Given the description of an element on the screen output the (x, y) to click on. 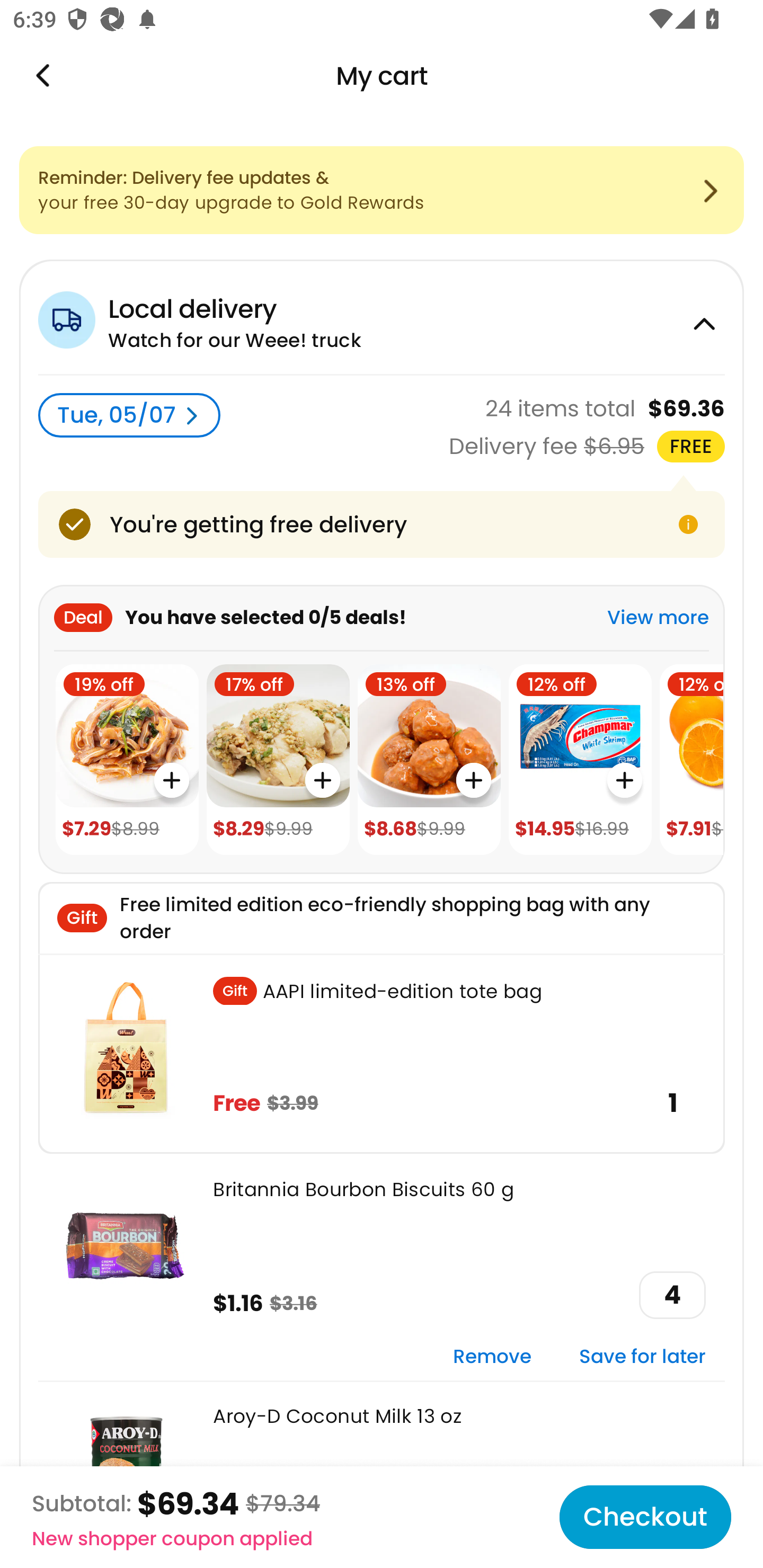
Local delivery Watch for our Weee! truck (381, 317)
Tue, 05/07 (129, 415)
You're getting free delivery (381, 524)
19% off $7.29 $8.99 (126, 759)
17% off $8.29 $9.99 (277, 759)
13% off $8.68 $9.99 (428, 759)
12% off $14.95 $16.99 (579, 759)
. AAPI limited-edition tote bag Free $3.99 1 (381, 1053)
4 (672, 1294)
Remove (491, 1356)
Save for later (642, 1356)
Checkout (644, 1516)
